Given the description of an element on the screen output the (x, y) to click on. 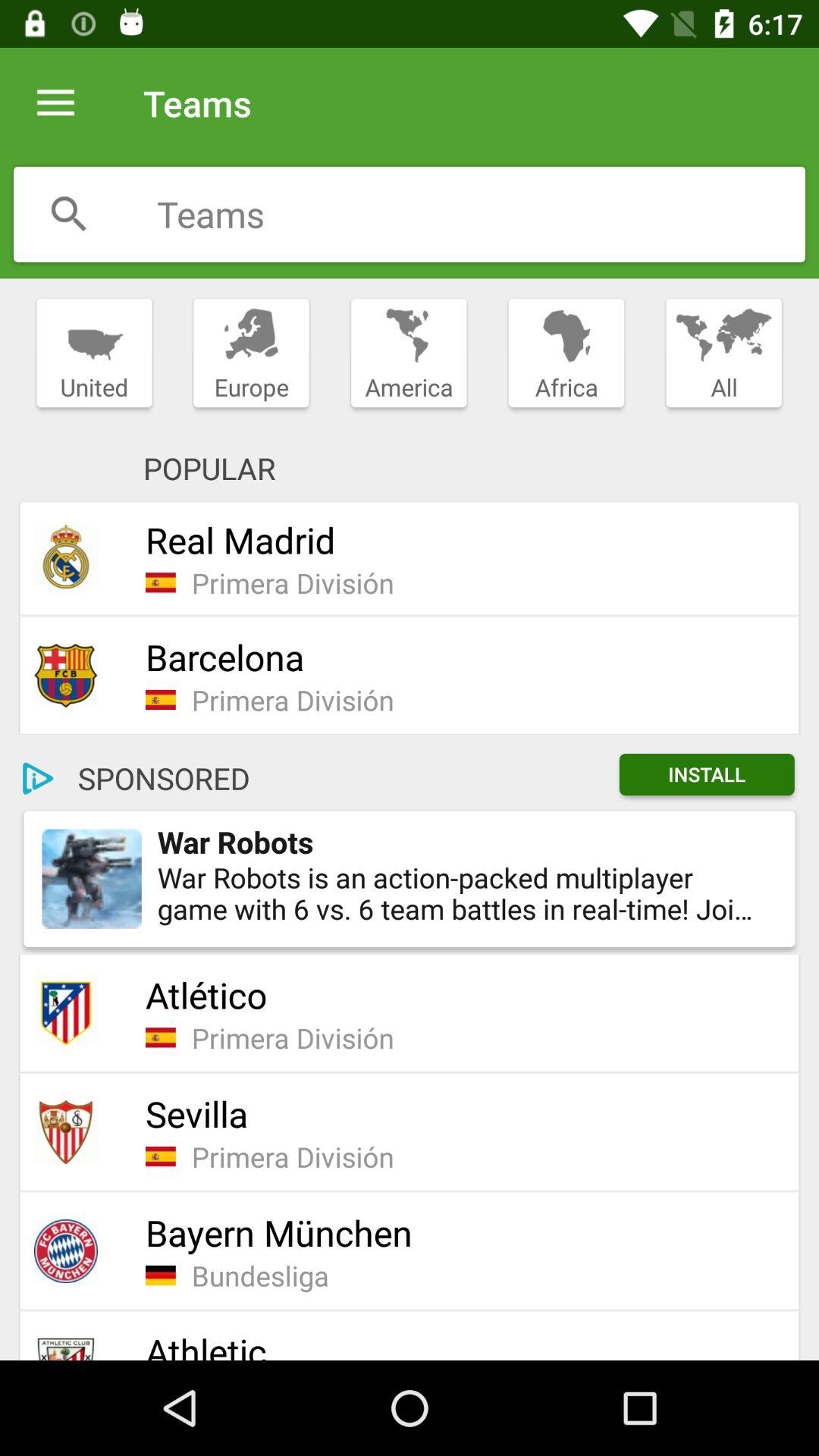
swipe to barcelona icon (462, 657)
